Given the description of an element on the screen output the (x, y) to click on. 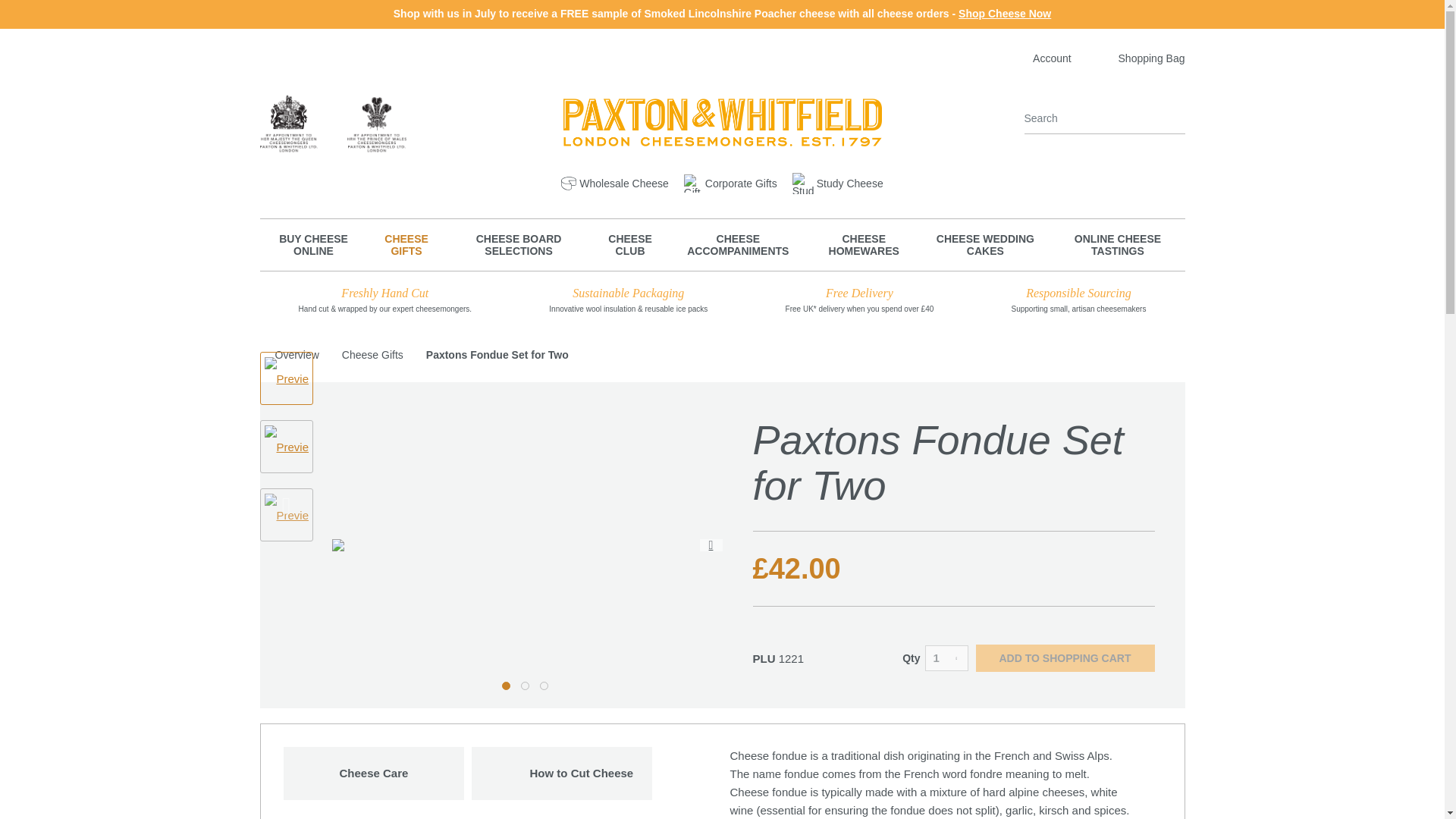
Wholesale Cheese (614, 183)
CHEESE CLUB (630, 245)
Shop Cheese Now (1004, 13)
Cheese Accompaniments (738, 245)
CHEESE BOARD SELECTIONS (518, 245)
Cheese Board Selections  (518, 245)
CHEESE GIFTS (406, 245)
Account (1040, 58)
Cheese Gifts  (406, 245)
Online Cheese Tastings (1117, 245)
Cheese Homewares (864, 245)
CHEESE WEDDING CAKES (984, 245)
Shopping Bag (1139, 58)
CHEESE ACCOMPANIMENTS (738, 245)
Corporate Gifts (730, 183)
